Given the description of an element on the screen output the (x, y) to click on. 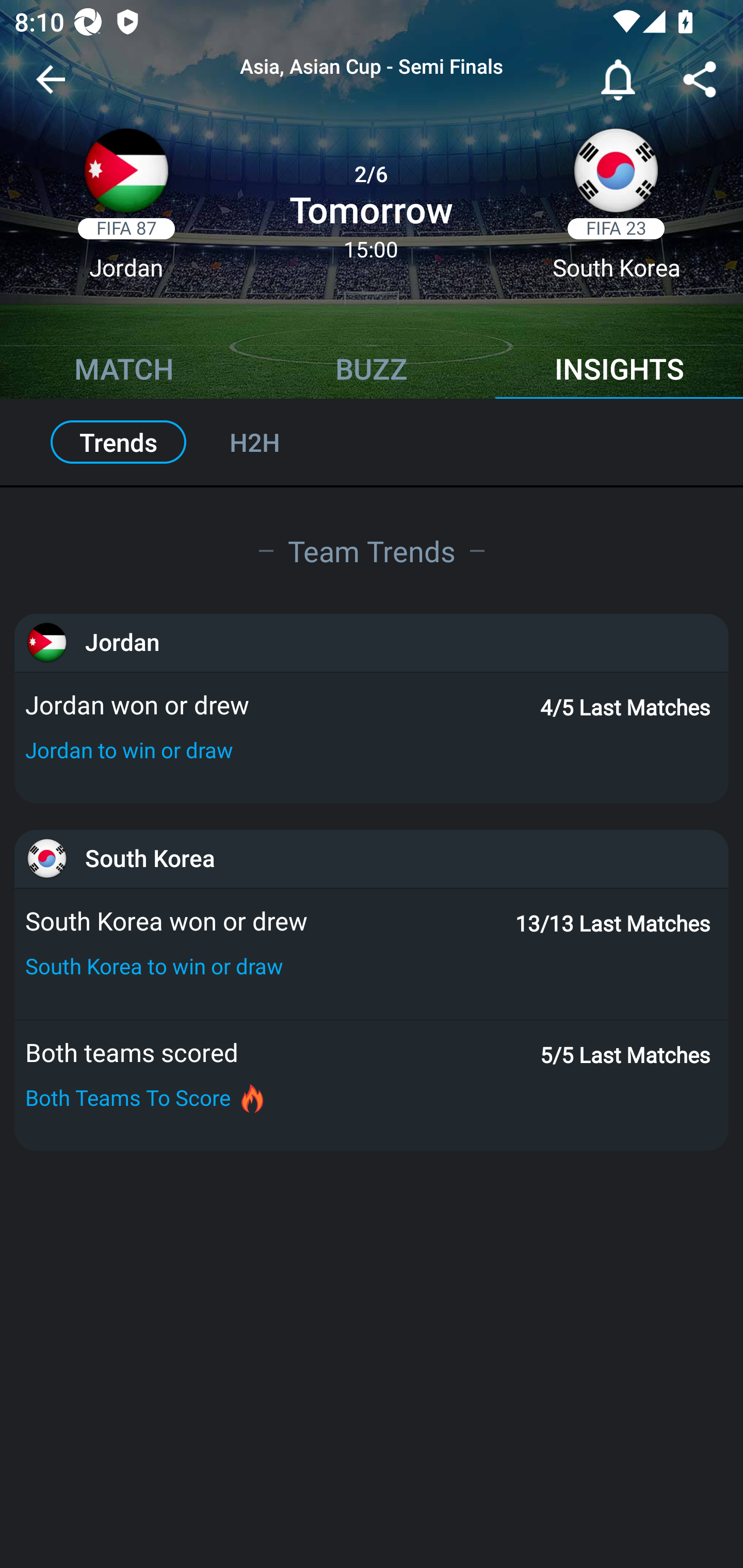
Navigate up (50, 86)
Asia, Asian Cup - Semi Finals (371, 66)
Share (699, 82)
FIFA 87 Jordan (126, 210)
FIFA 23 South Korea (616, 210)
MATCH (123, 371)
BUZZ (371, 371)
INSIGHTS (619, 371)
H2H (276, 442)
Team Trends (371, 550)
Jordan (371, 642)
South Korea (371, 858)
